Given the description of an element on the screen output the (x, y) to click on. 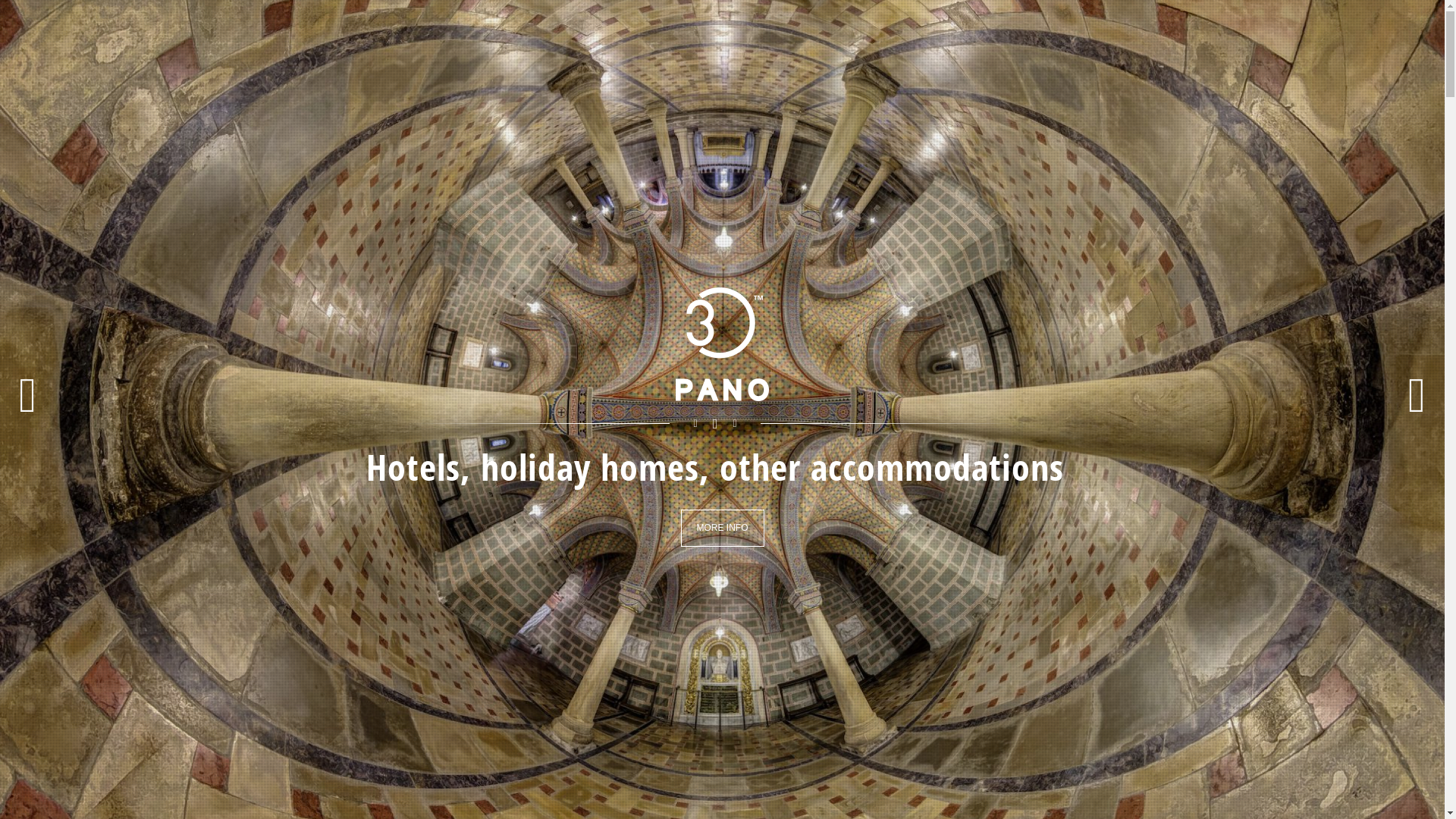
MORE INFO Element type: text (722, 527)
